Given the description of an element on the screen output the (x, y) to click on. 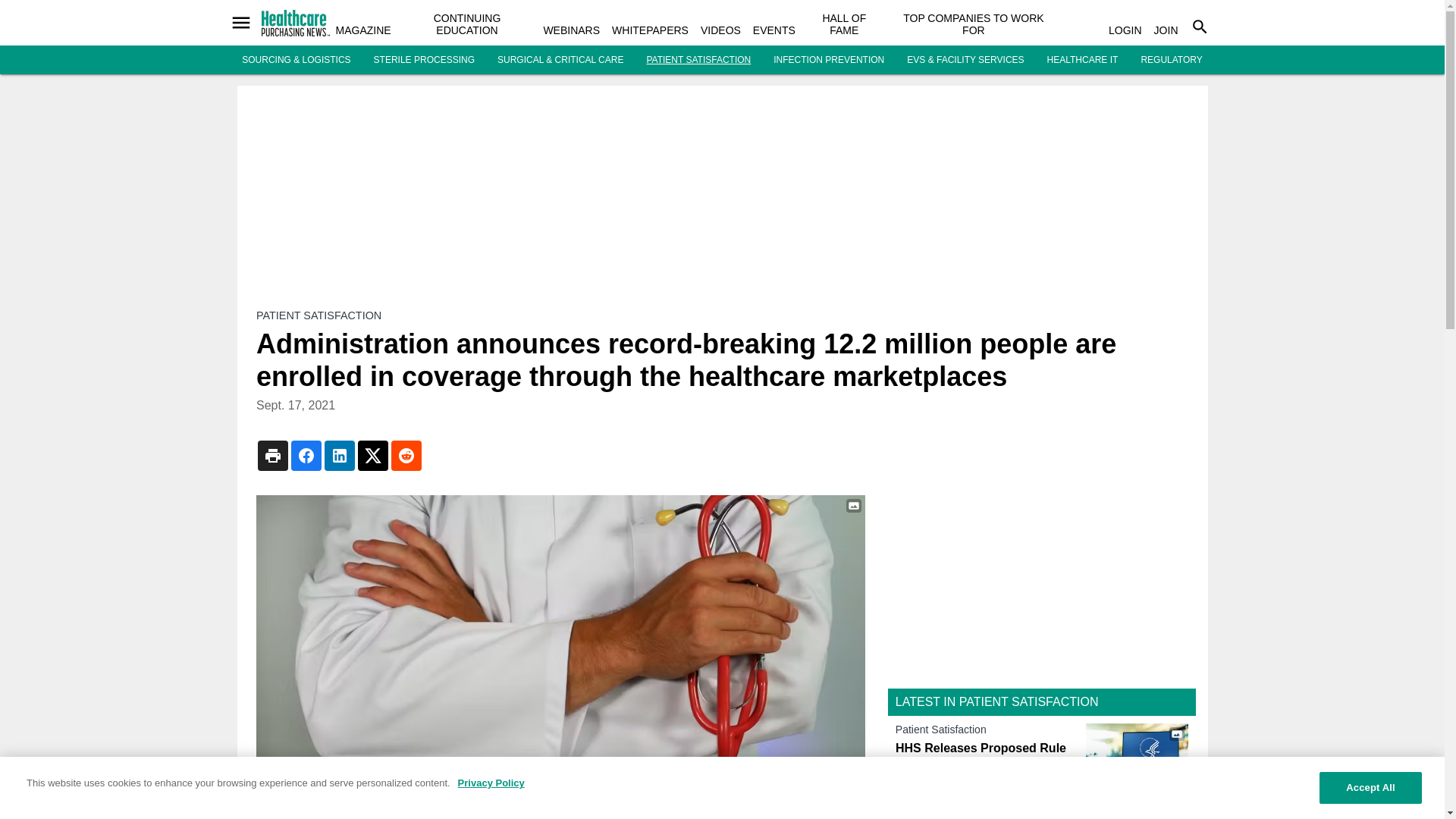
VIDEOS (720, 30)
CONTINUING EDUCATION (466, 24)
STERILE PROCESSING (424, 59)
LOGIN (1124, 30)
HEALTHCARE IT (1082, 59)
INFECTION PREVENTION (828, 59)
PATIENT SATISFACTION (698, 59)
REGULATORY (1171, 59)
MAGAZINE (362, 30)
WEBINARS (571, 30)
3rd party ad content (1042, 582)
TOP COMPANIES TO WORK FOR (972, 24)
HALL OF FAME (844, 24)
